Given the description of an element on the screen output the (x, y) to click on. 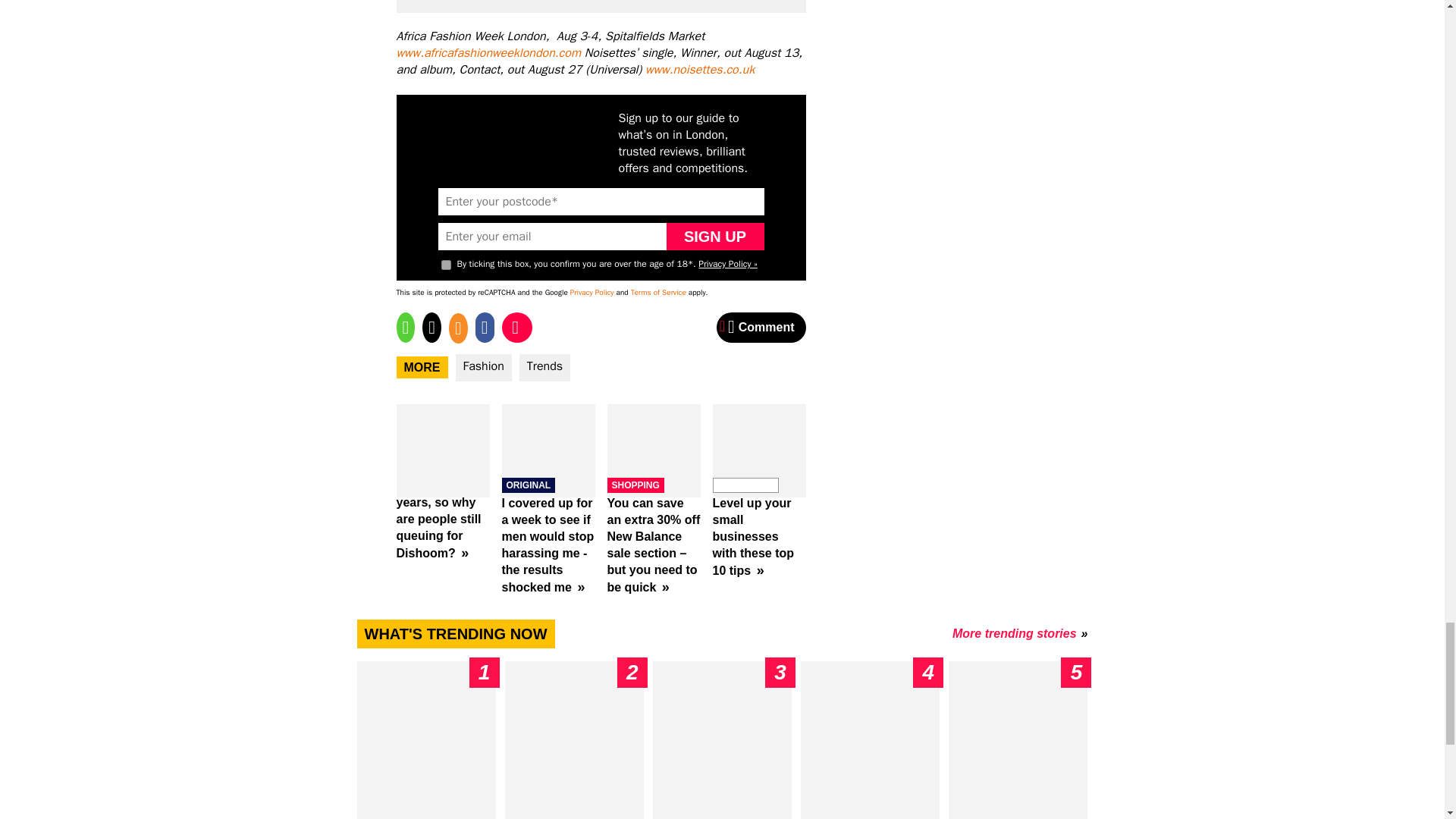
true (446, 265)
